Given the description of an element on the screen output the (x, y) to click on. 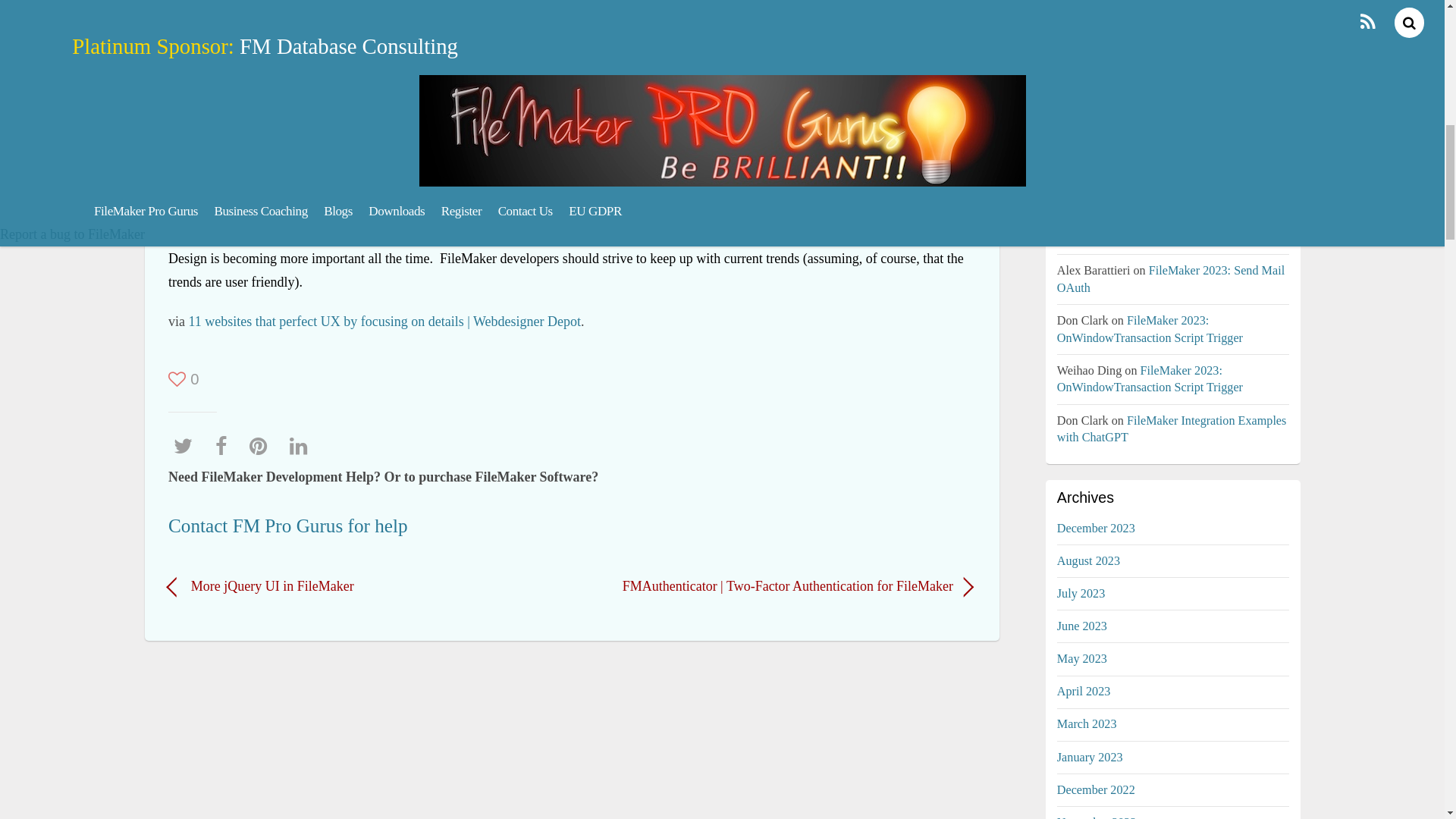
Contact FM Pro Gurus for help (287, 525)
Neoteric Design (535, 139)
LinkedIn (302, 446)
Twitter (186, 446)
Pinterest (261, 446)
